Given the description of an element on the screen output the (x, y) to click on. 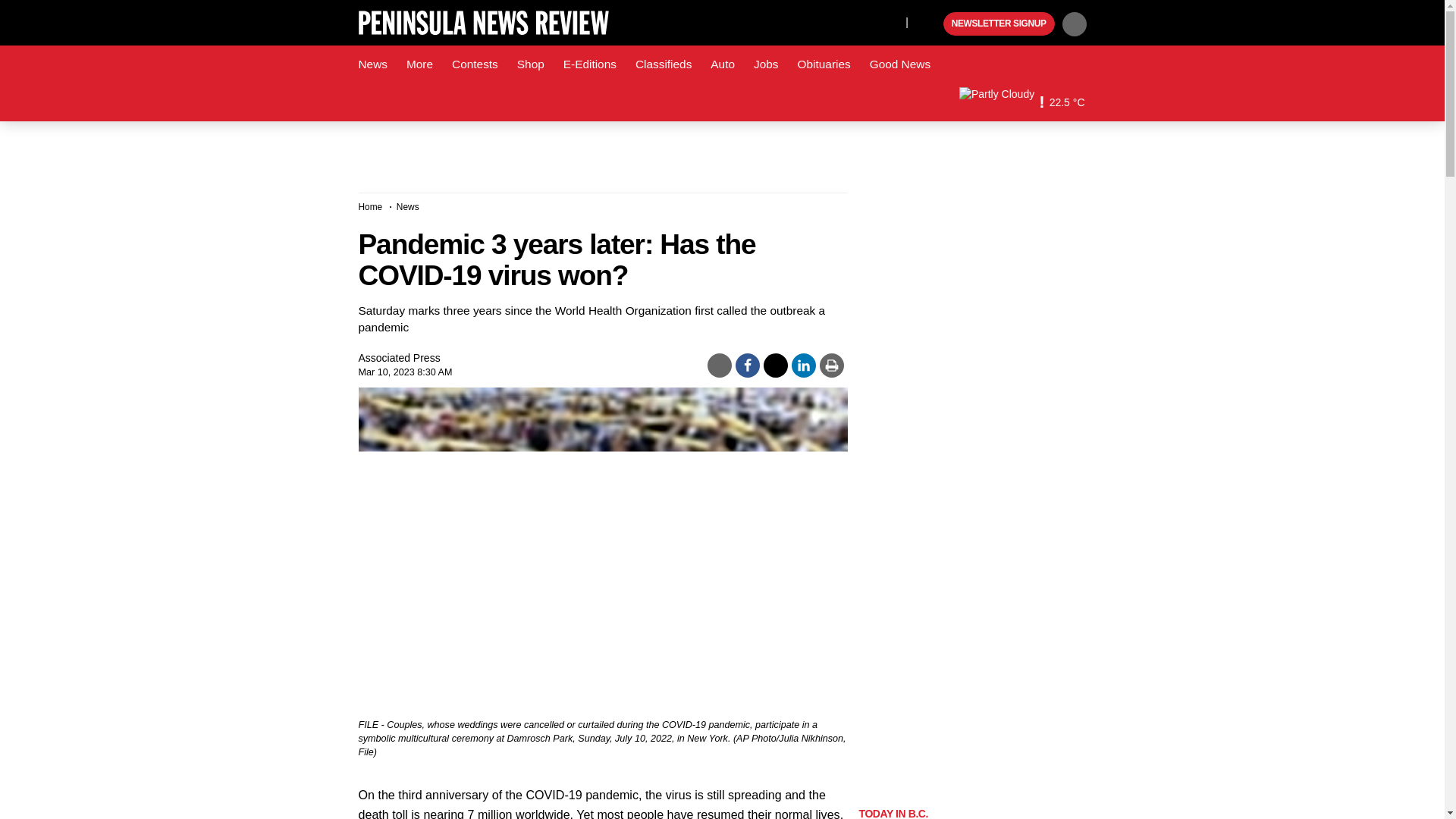
X (889, 21)
NEWSLETTER SIGNUP (998, 24)
Play (929, 24)
Weather alert (1041, 101)
News (372, 64)
